Given the description of an element on the screen output the (x, y) to click on. 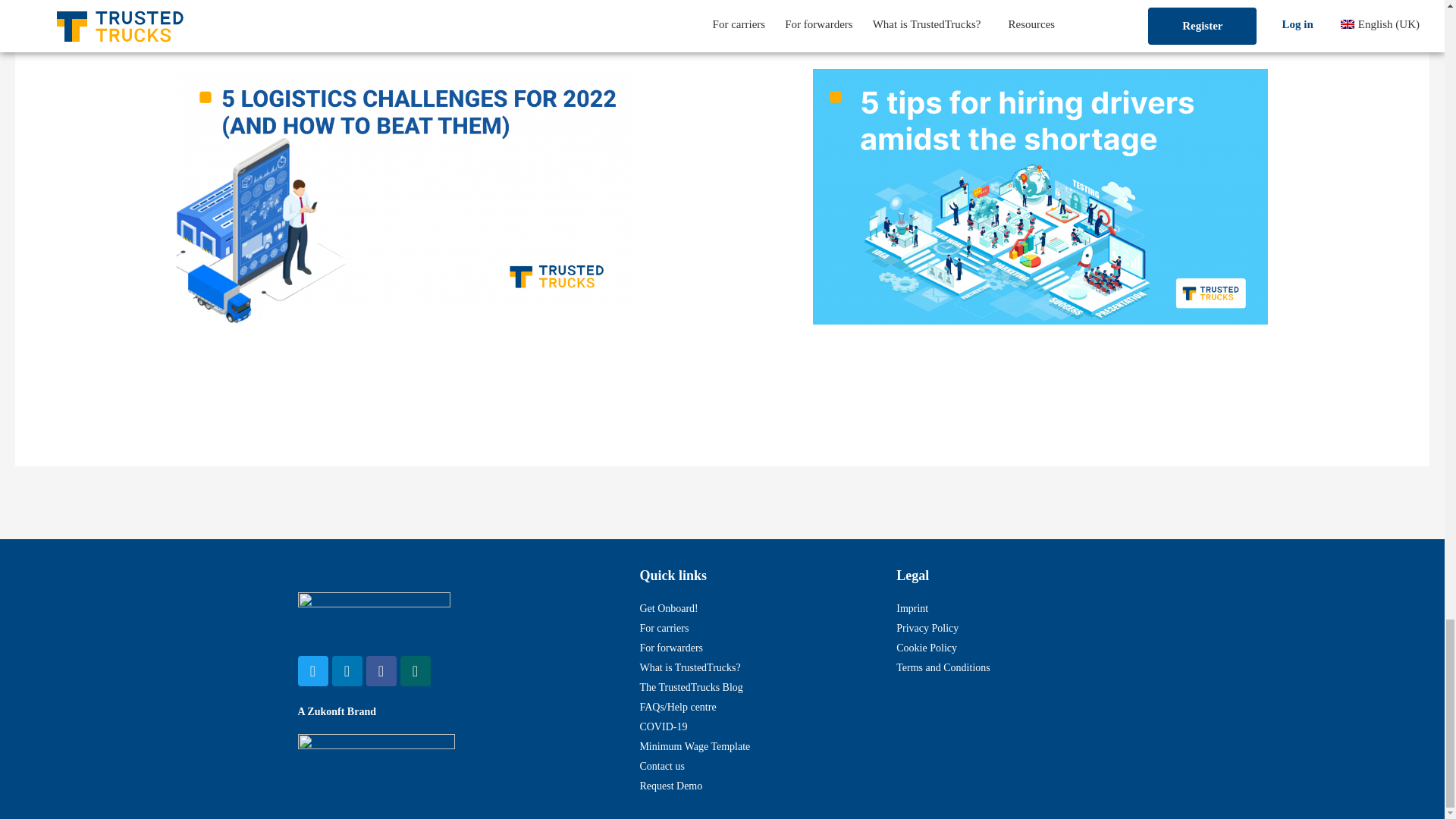
What is TrustedTrucks? (752, 668)
For carriers (752, 628)
Get Onboard! (752, 608)
The TrustedTrucks Blog (752, 687)
For forwarders (752, 648)
